Given the description of an element on the screen output the (x, y) to click on. 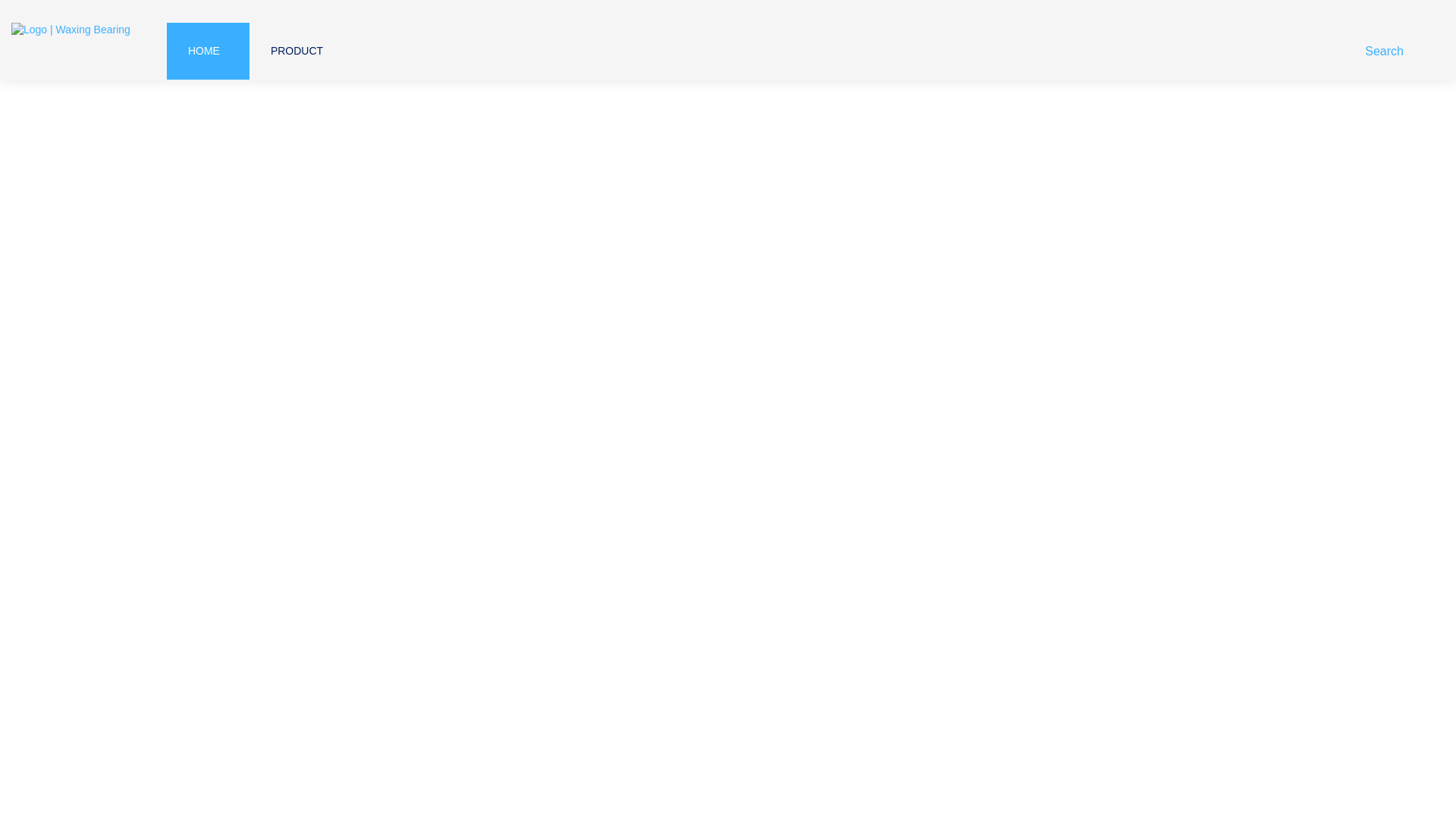
PRODUCT (296, 50)
English (1362, 11)
HOME (203, 50)
